Given the description of an element on the screen output the (x, y) to click on. 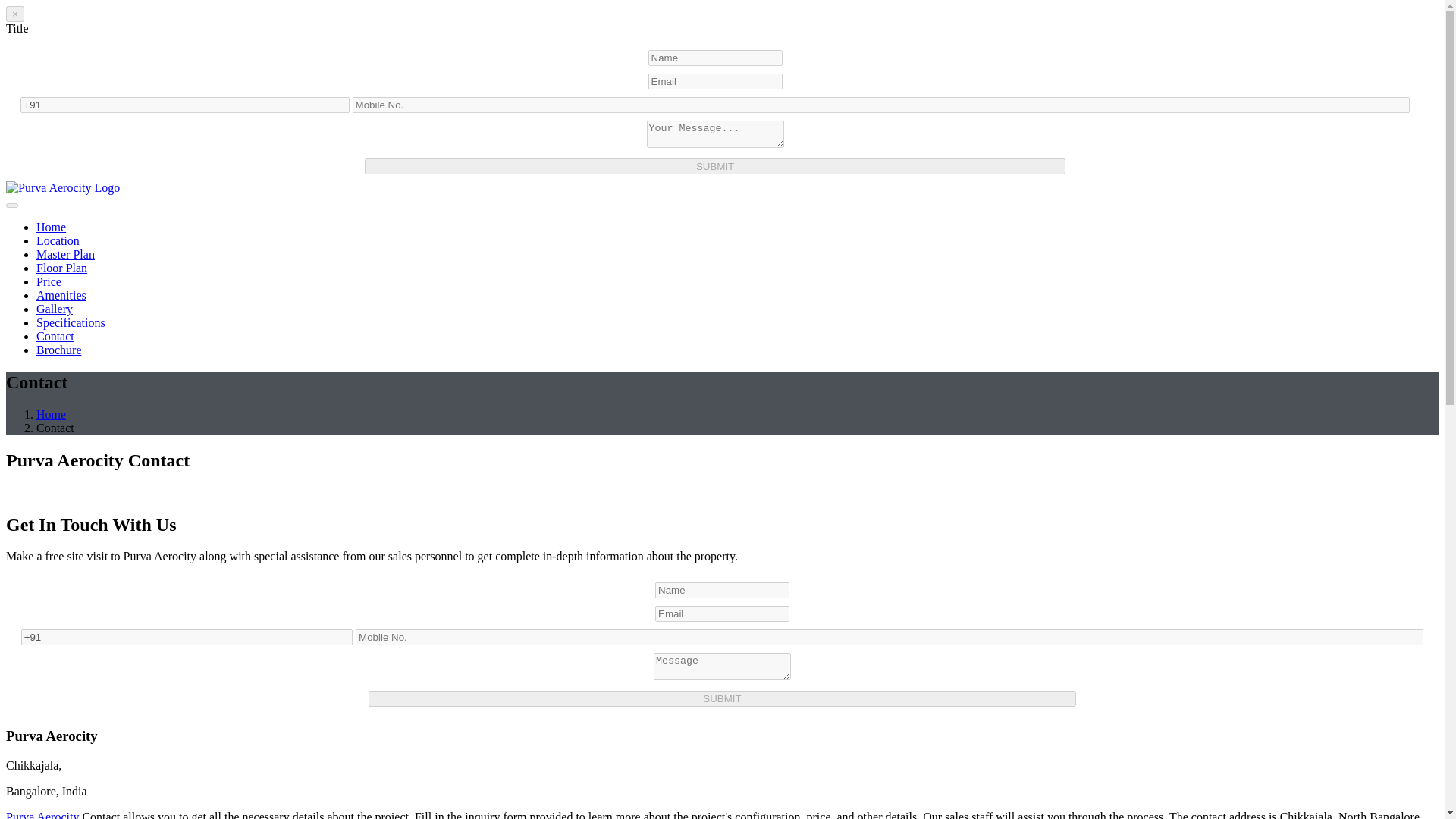
Purva Aerocity Specifications (70, 322)
Amenities (60, 295)
Gallery (54, 308)
Purva Aerocity Master Plan (65, 254)
Brochure (58, 349)
Purva Aerocity Gallery (54, 308)
Price (48, 281)
Contact (55, 336)
Purva Aerocity Logo (62, 187)
Floor Plan (61, 267)
